Given the description of an element on the screen output the (x, y) to click on. 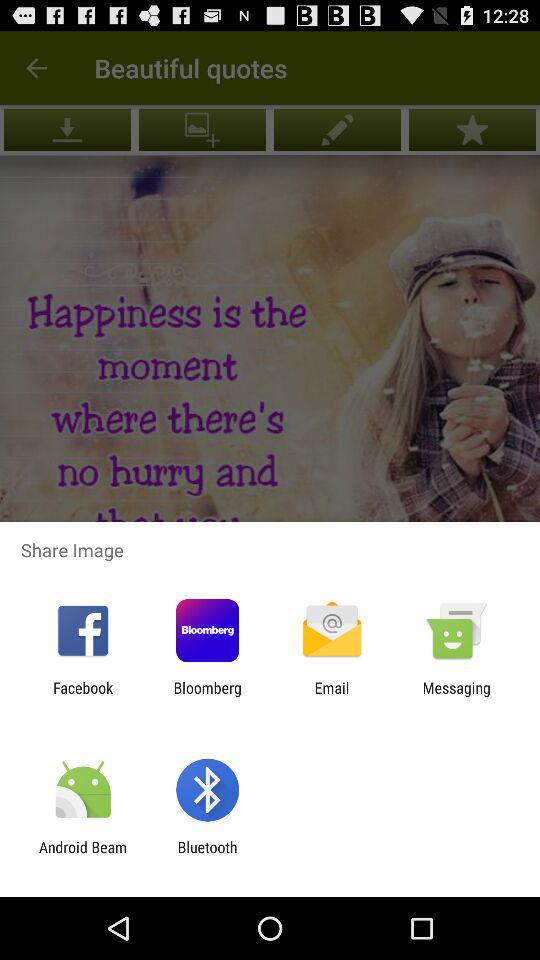
swipe until bloomberg item (207, 696)
